Given the description of an element on the screen output the (x, y) to click on. 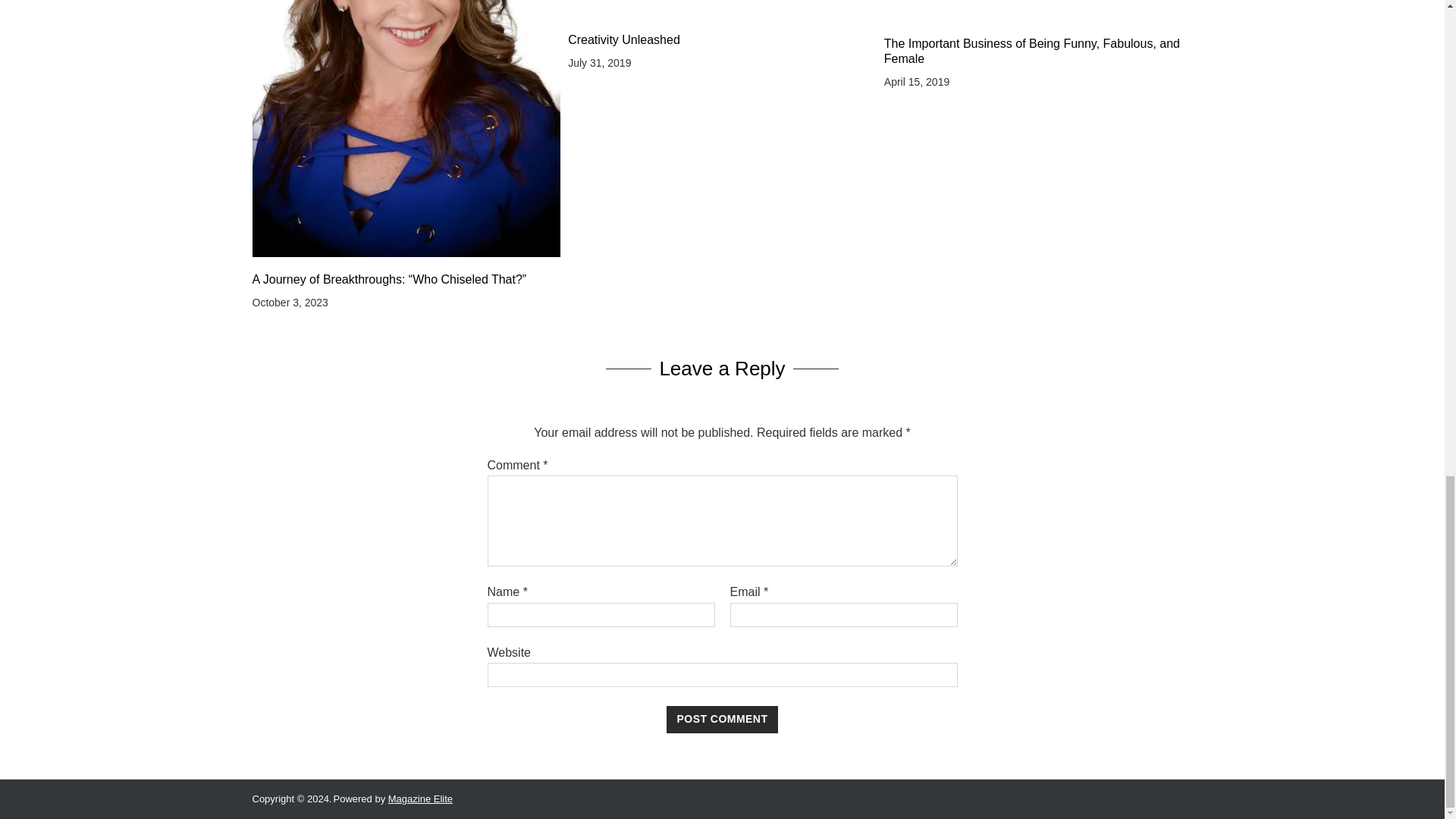
The Important Business of Being Funny, Fabulous, and Female (1037, 51)
Post Comment (722, 719)
Post Comment (722, 719)
Magazine Elite (420, 798)
Creativity Unleashed (721, 39)
